Given the description of an element on the screen output the (x, y) to click on. 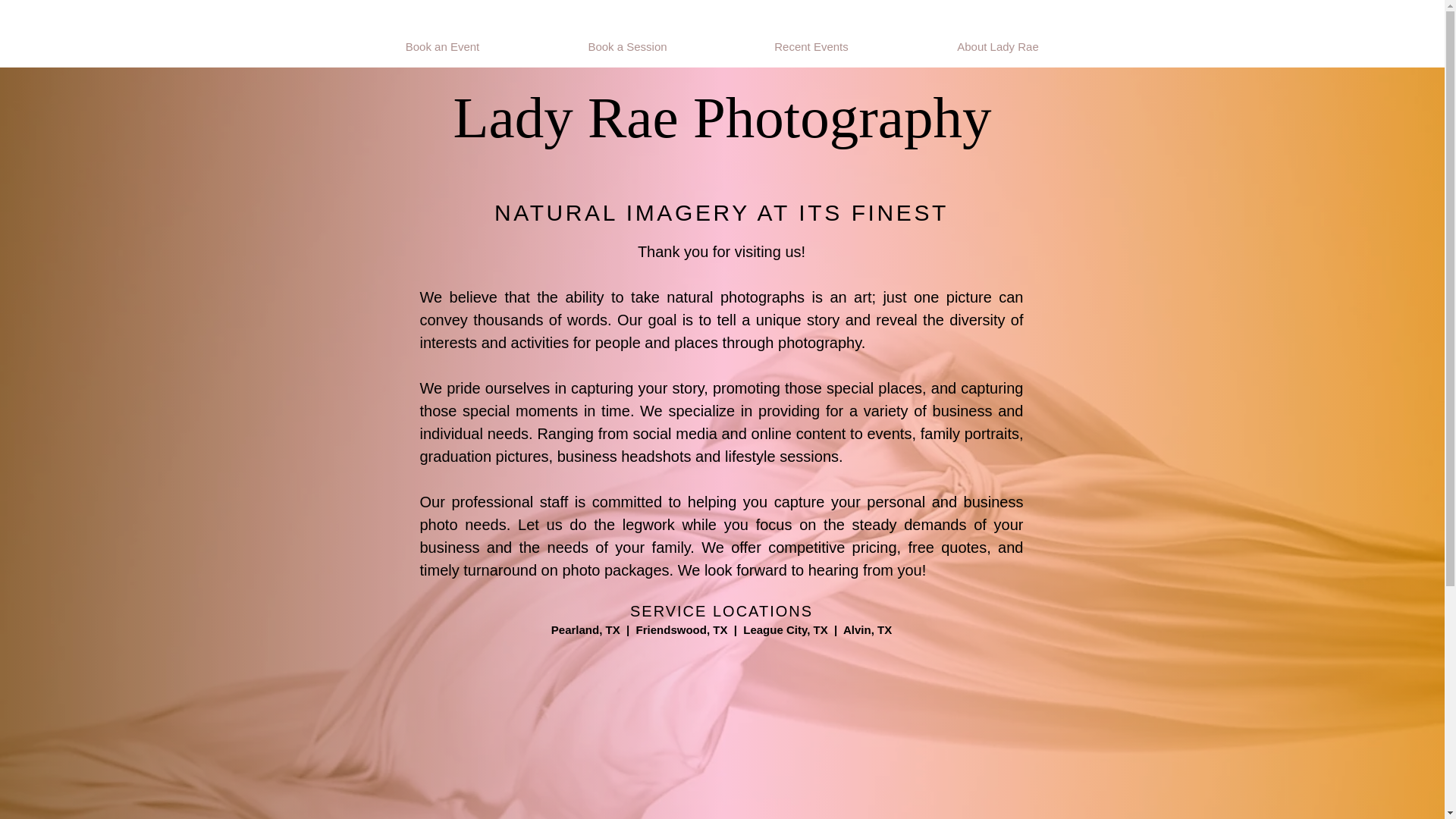
Book an Event (442, 46)
About Lady Rae (998, 46)
Recent Events (810, 46)
Book a Session (627, 46)
Lady Rae Photography (721, 117)
